Given the description of an element on the screen output the (x, y) to click on. 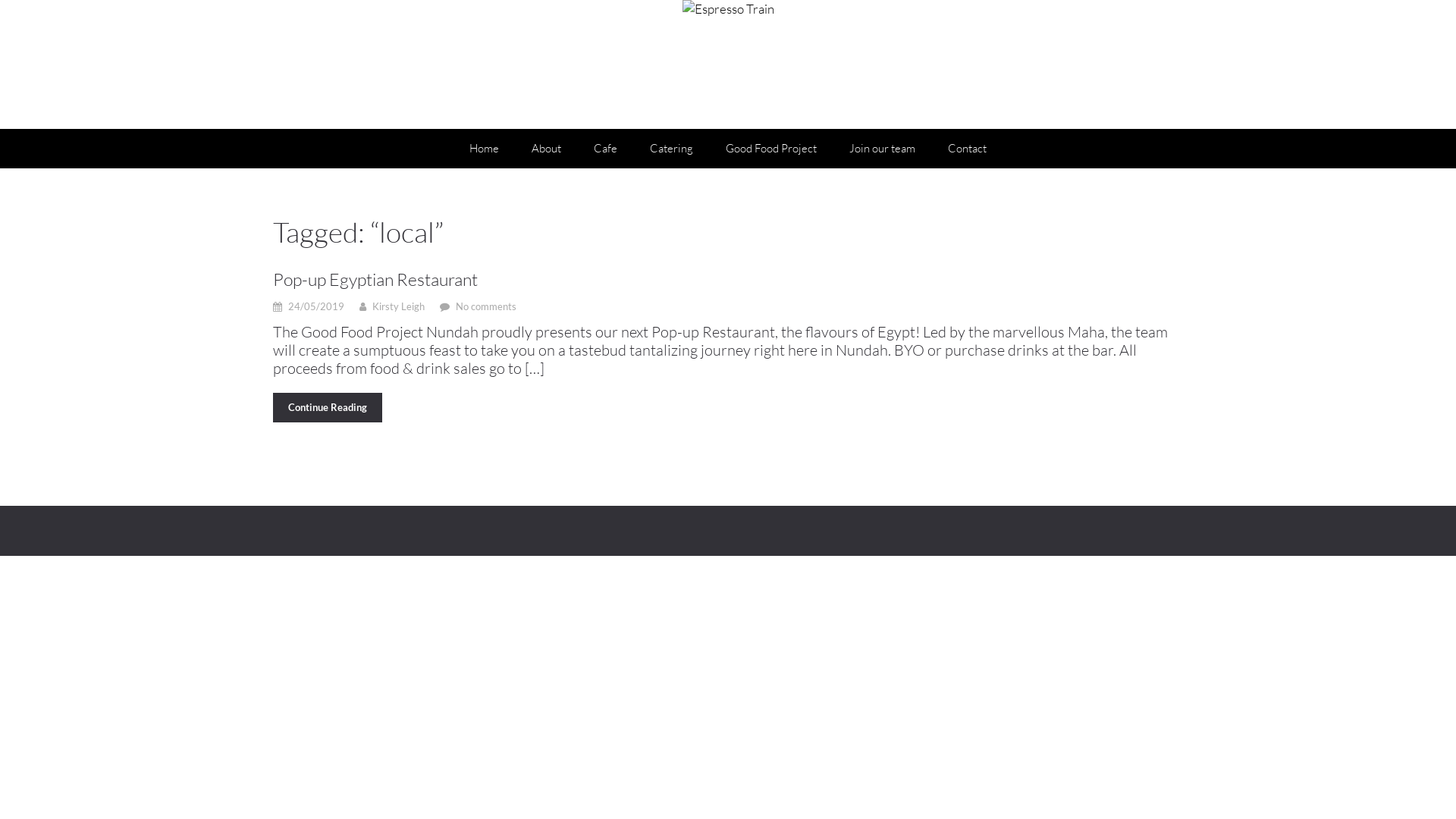
Home Element type: text (484, 148)
Kirsty Leigh Element type: text (398, 306)
About Element type: text (546, 148)
No comments Element type: text (485, 306)
Continue Reading Element type: text (327, 407)
Cafe Element type: text (605, 148)
Catering Element type: text (671, 148)
Good Food Project Element type: text (770, 148)
Contact Element type: text (966, 148)
Pop-up Egyptian Restaurant Element type: text (728, 278)
Join our team Element type: text (882, 148)
